Given the description of an element on the screen output the (x, y) to click on. 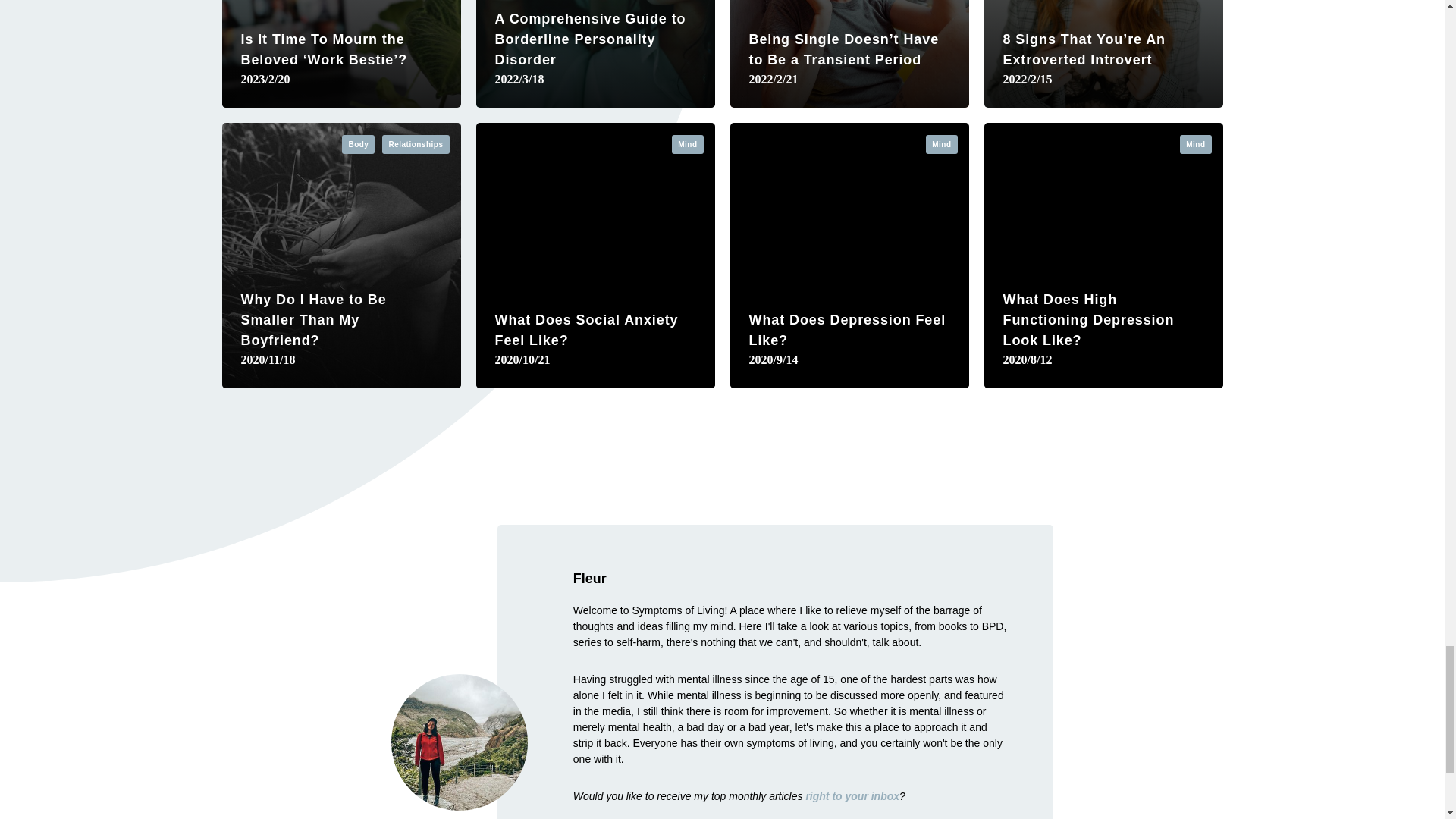
right to your inbox (852, 796)
